Given the description of an element on the screen output the (x, y) to click on. 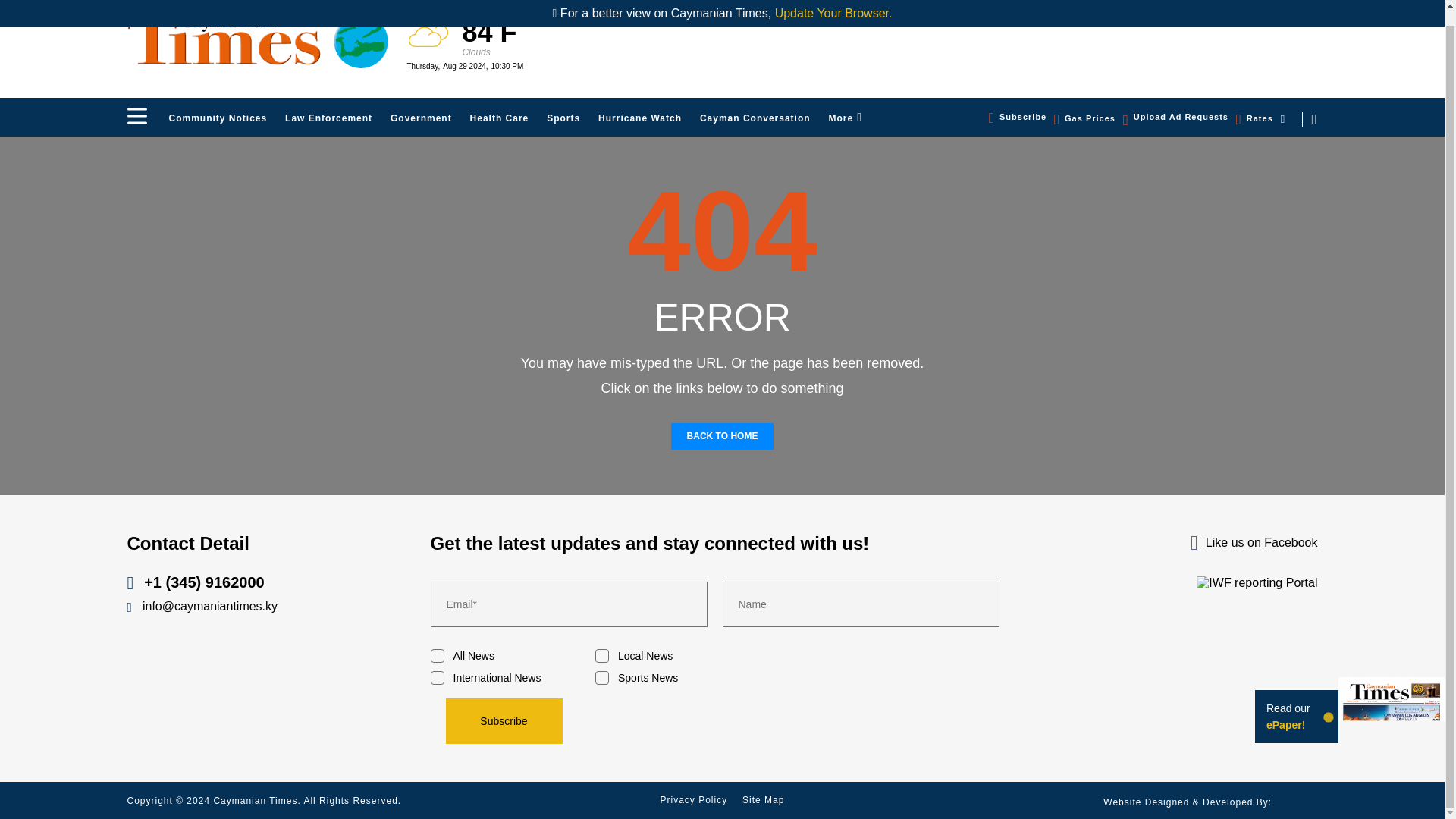
Caymanian Times (258, 41)
Update Your Browser (833, 2)
Menu (137, 116)
Caymanian Times (258, 38)
Update Your Browser. (833, 2)
